Given the description of an element on the screen output the (x, y) to click on. 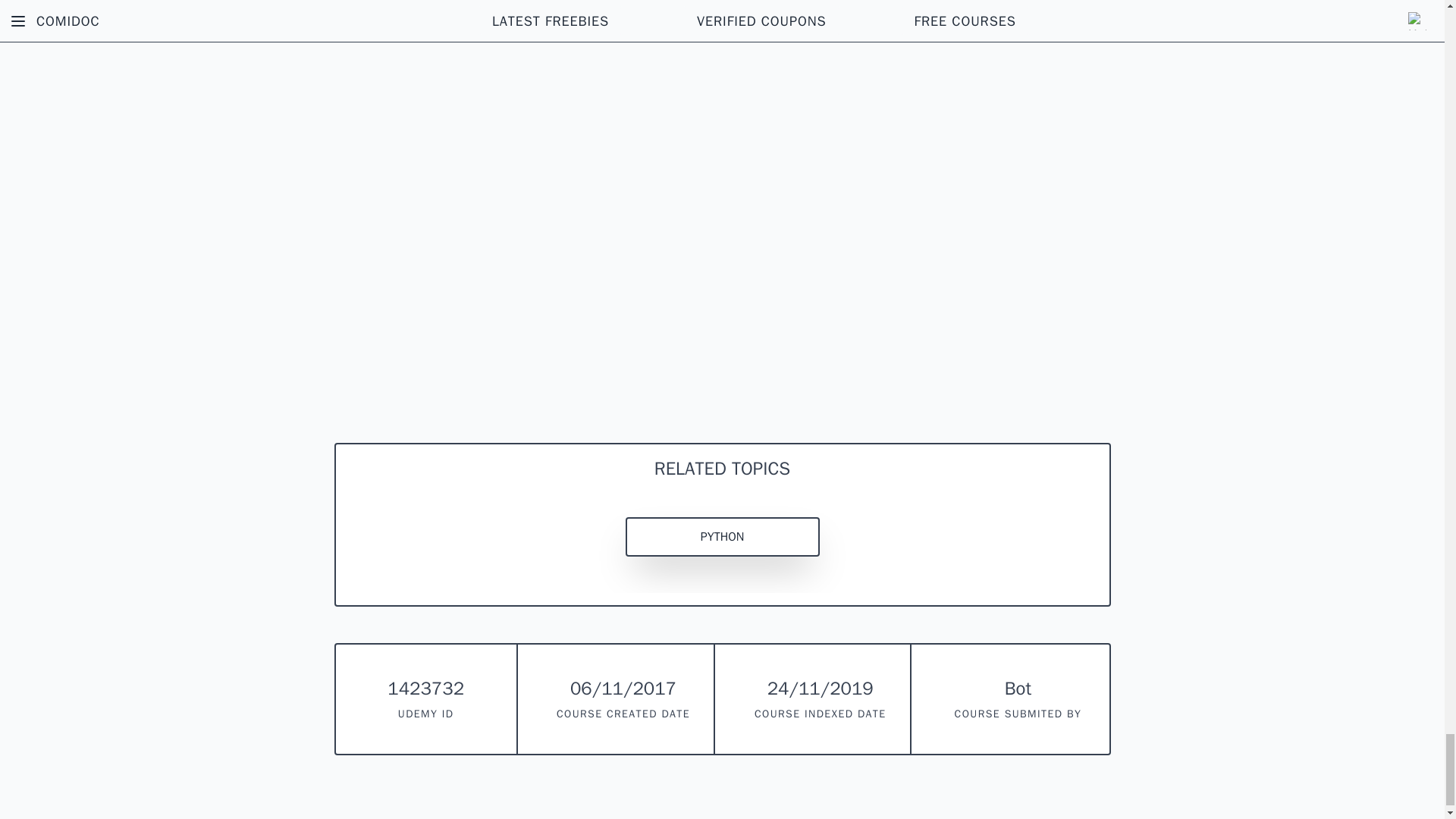
PYTHON (721, 536)
